Given the description of an element on the screen output the (x, y) to click on. 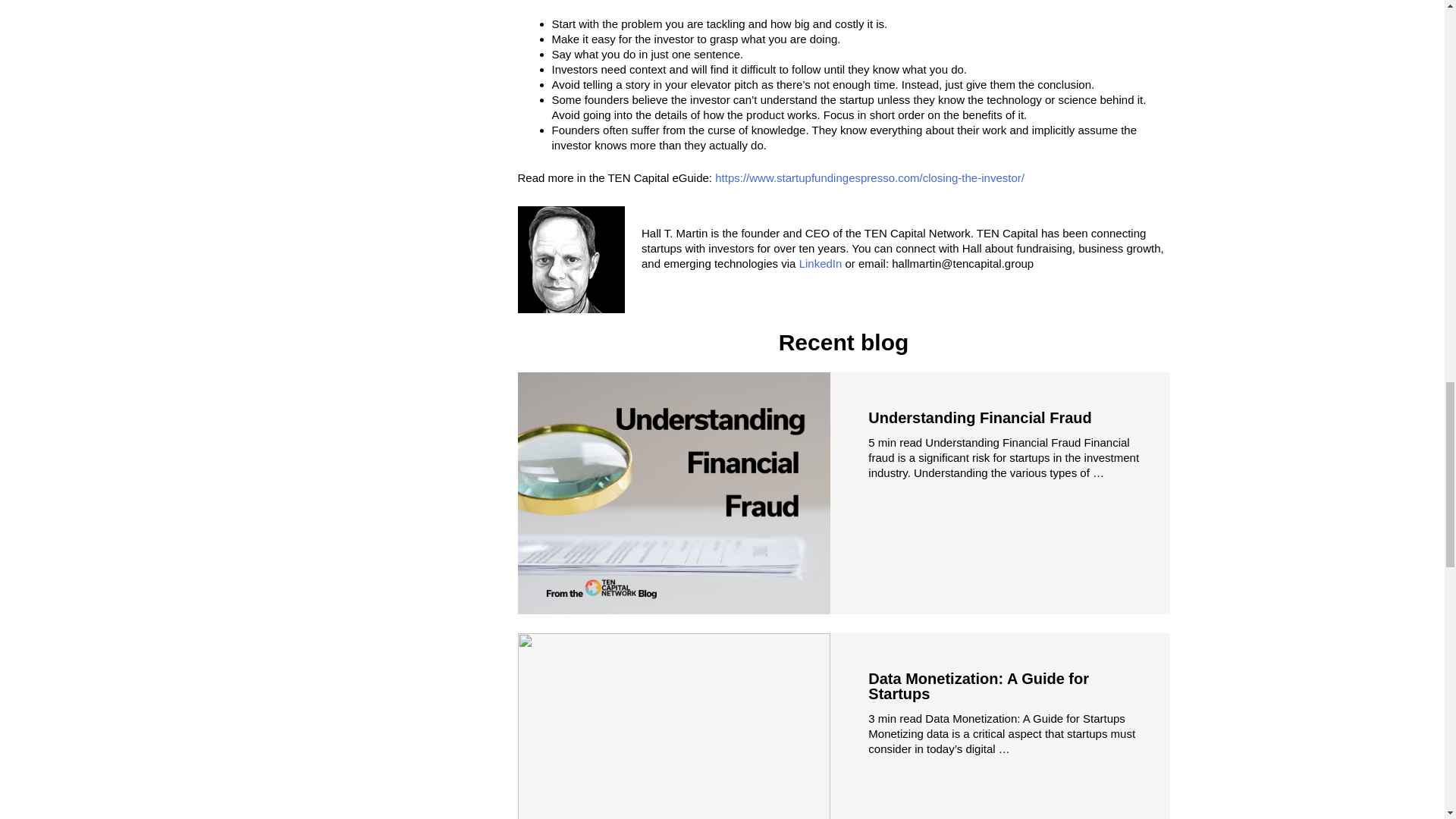
Understanding Financial Fraud (978, 417)
Data Monetization: A Guide for Startups (978, 685)
LinkedIn (821, 263)
